Given the description of an element on the screen output the (x, y) to click on. 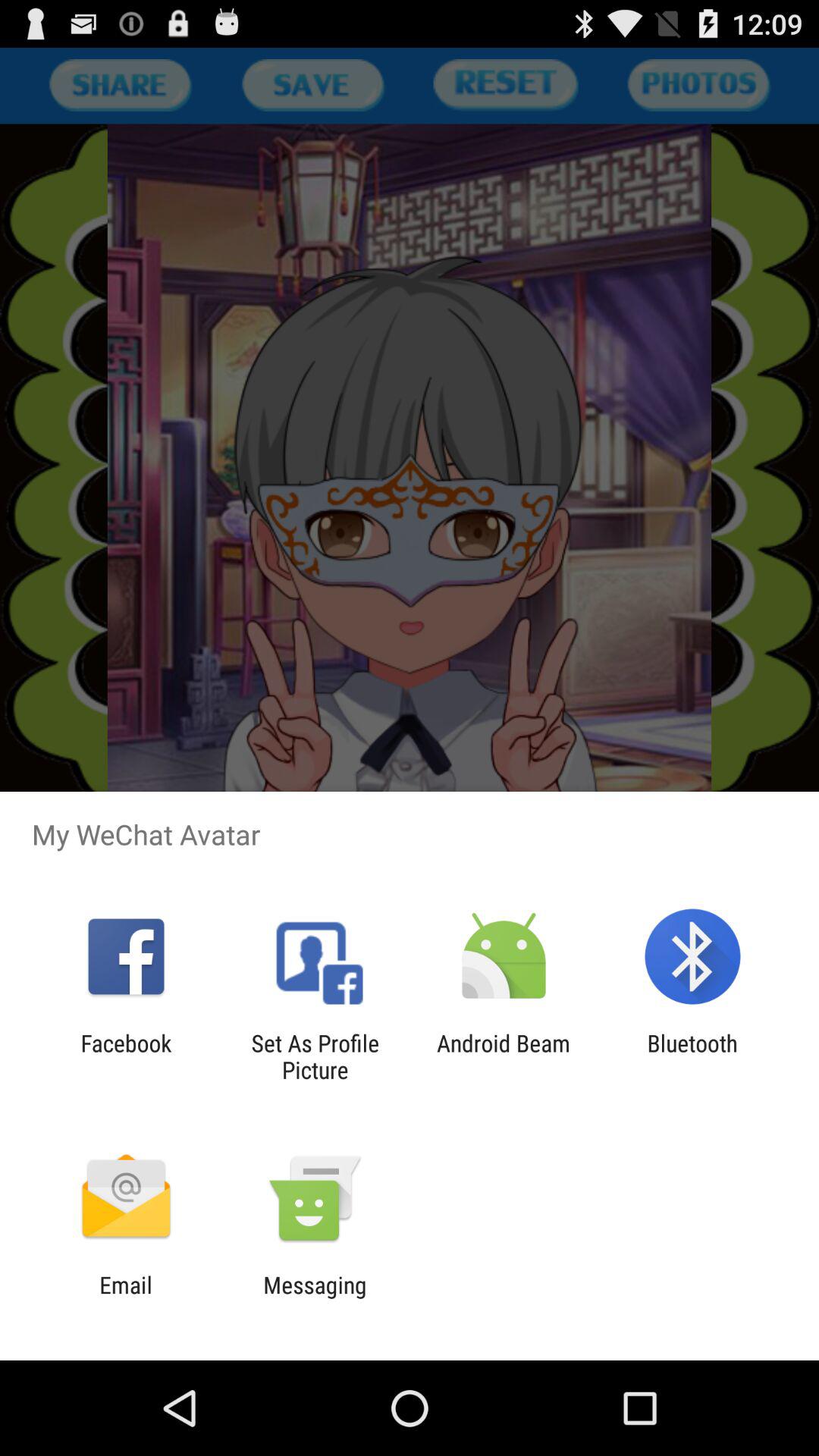
click the icon next to the set as profile (125, 1056)
